Given the description of an element on the screen output the (x, y) to click on. 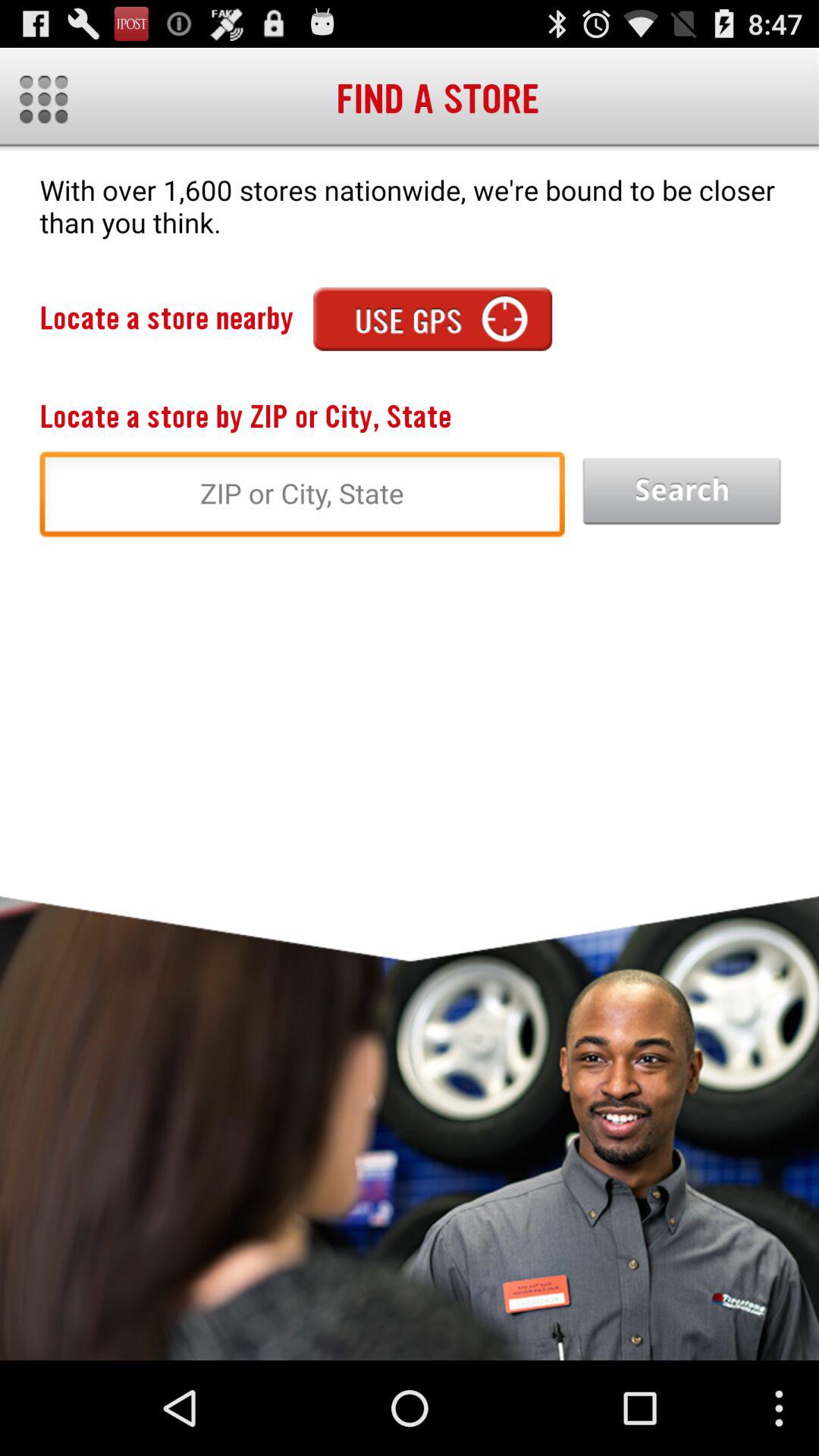
start the search (681, 491)
